Given the description of an element on the screen output the (x, y) to click on. 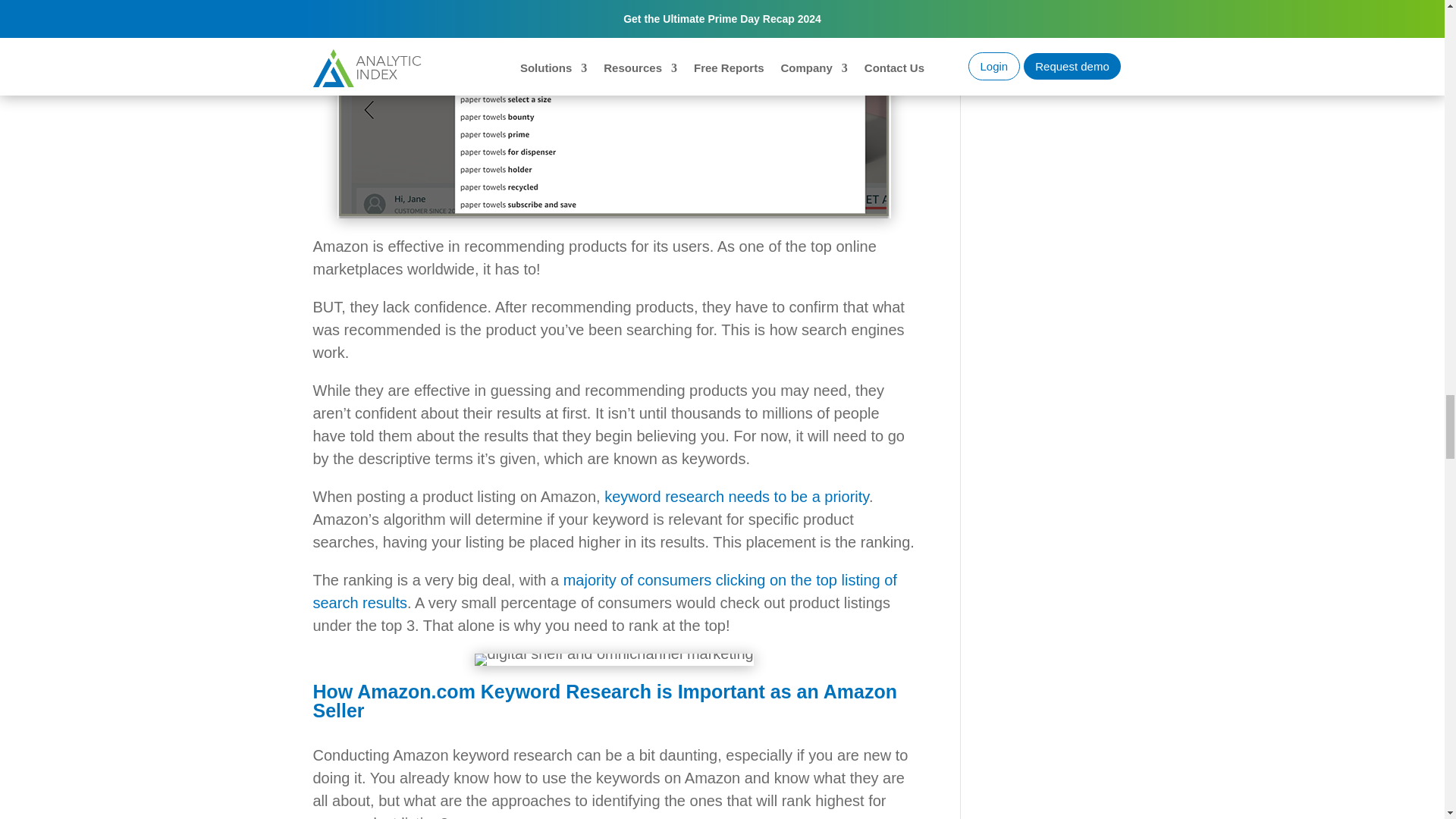
amazon keyword research 5 (613, 659)
amazon keyword research 3 (614, 109)
